Given the description of an element on the screen output the (x, y) to click on. 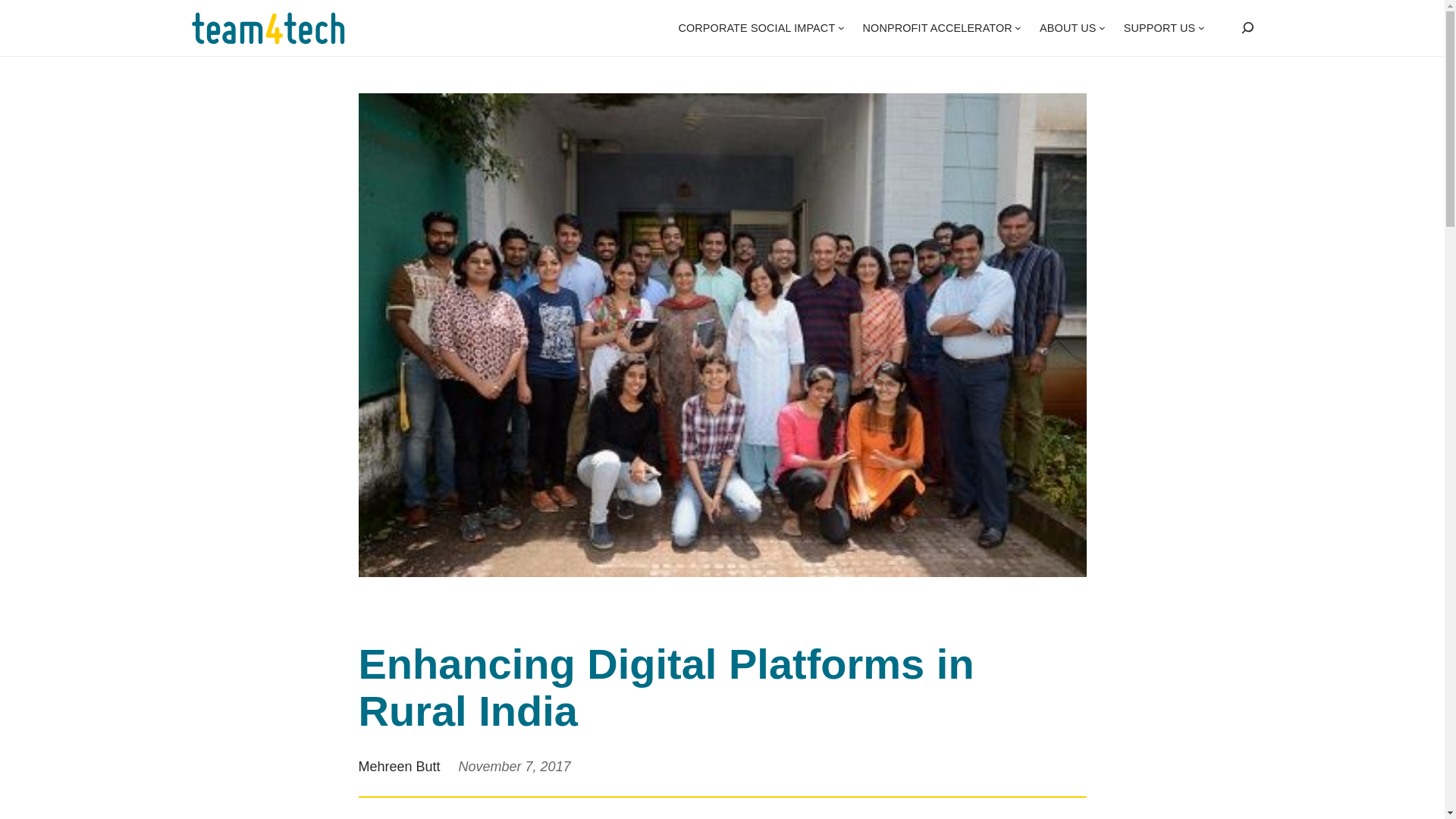
SUPPORT US (1159, 27)
CORPORATE SOCIAL IMPACT (756, 27)
SEARCH (1246, 28)
NONPROFIT ACCELERATOR (937, 27)
ABOUT US (1067, 27)
